Given the description of an element on the screen output the (x, y) to click on. 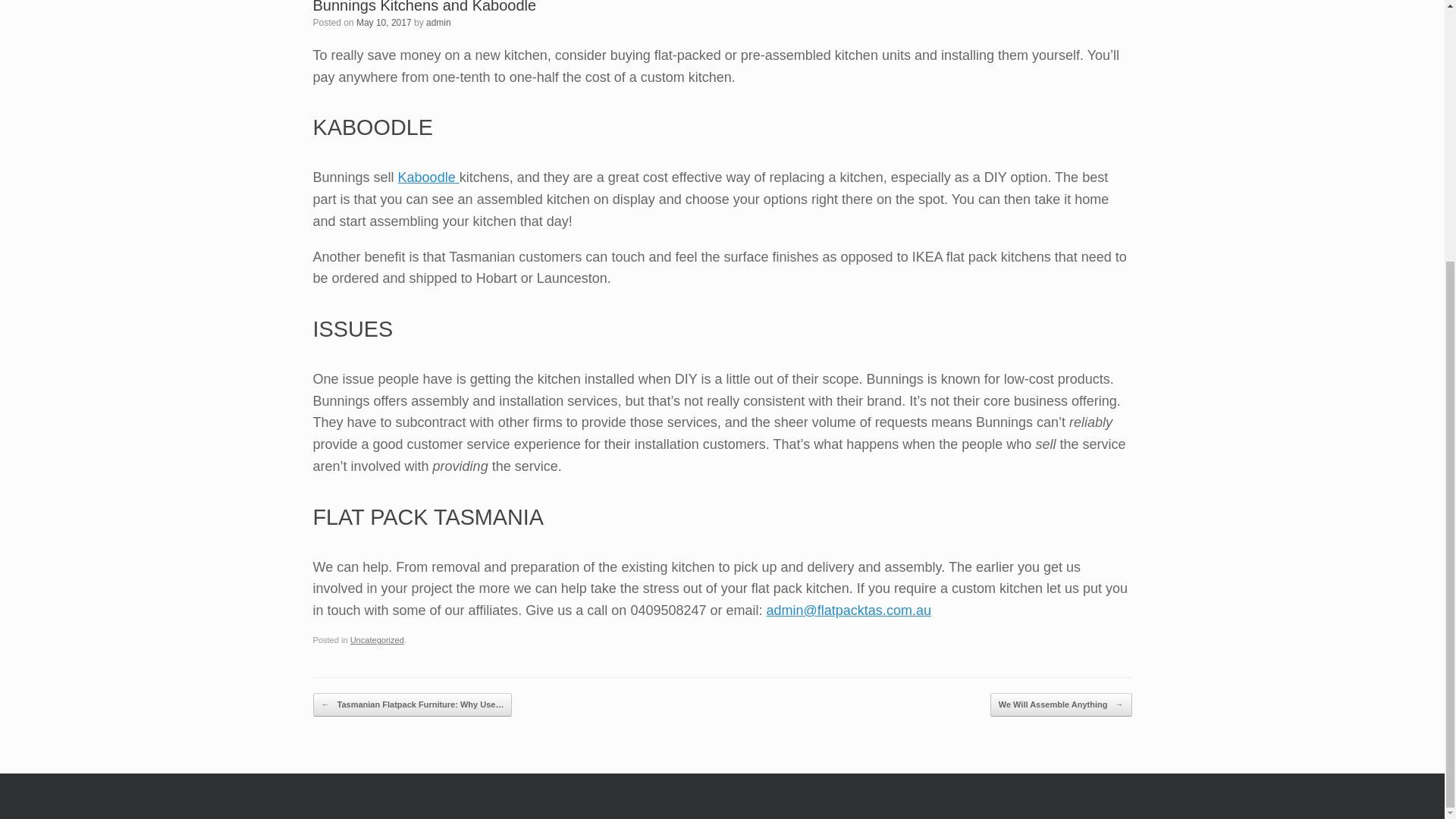
View all posts by admin (438, 22)
Uncategorized (377, 639)
admin (438, 22)
0409508247 (668, 610)
2:48 am (384, 22)
May 10, 2017 (384, 22)
Kaboodle (428, 177)
